Given the description of an element on the screen output the (x, y) to click on. 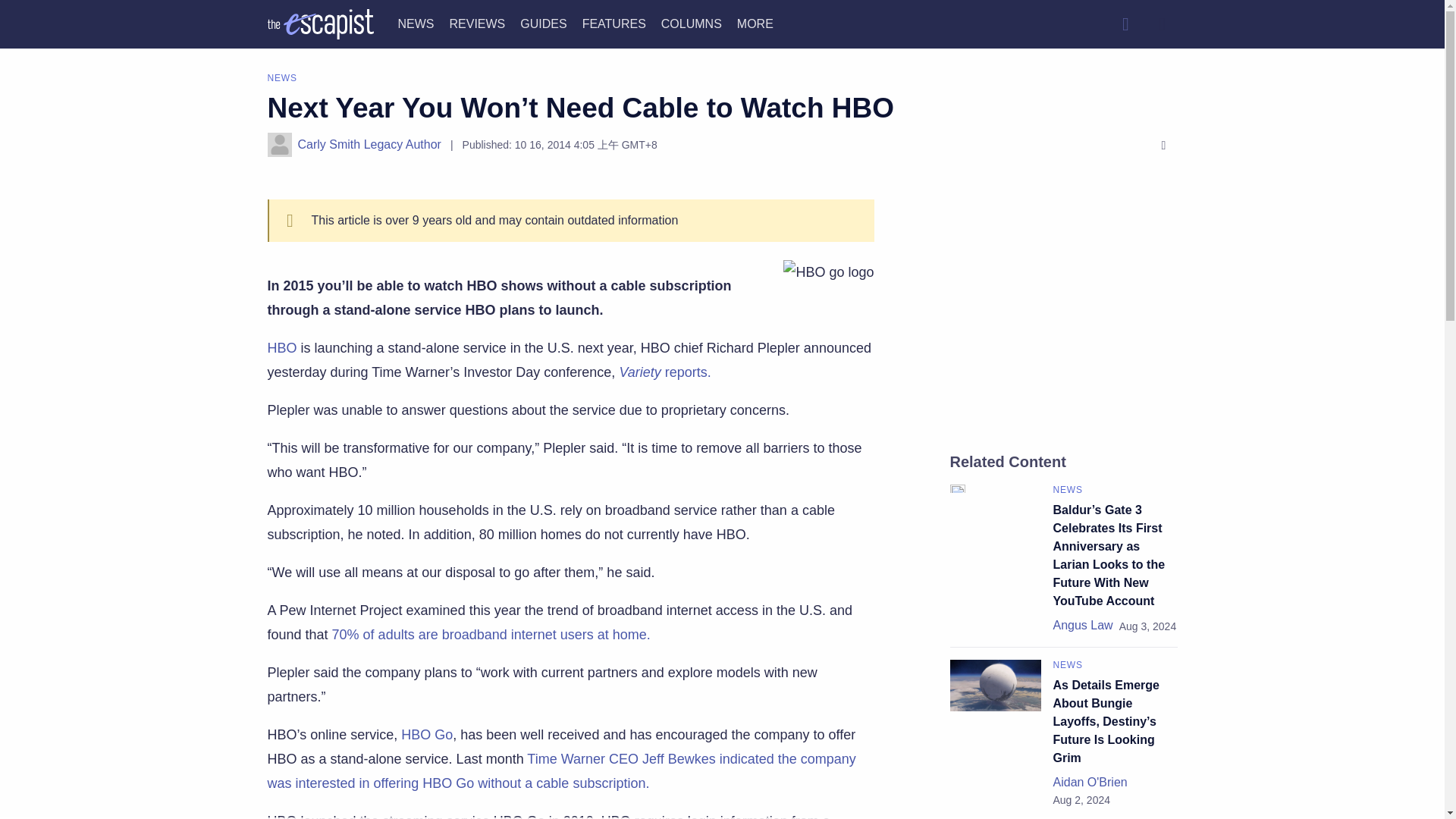
Dark Mode (1161, 24)
REVIEWS (476, 23)
COLUMNS (691, 23)
HBO go logo (828, 272)
Search (1124, 24)
NEWS (415, 23)
FEATURES (614, 23)
GUIDES (542, 23)
